Given the description of an element on the screen output the (x, y) to click on. 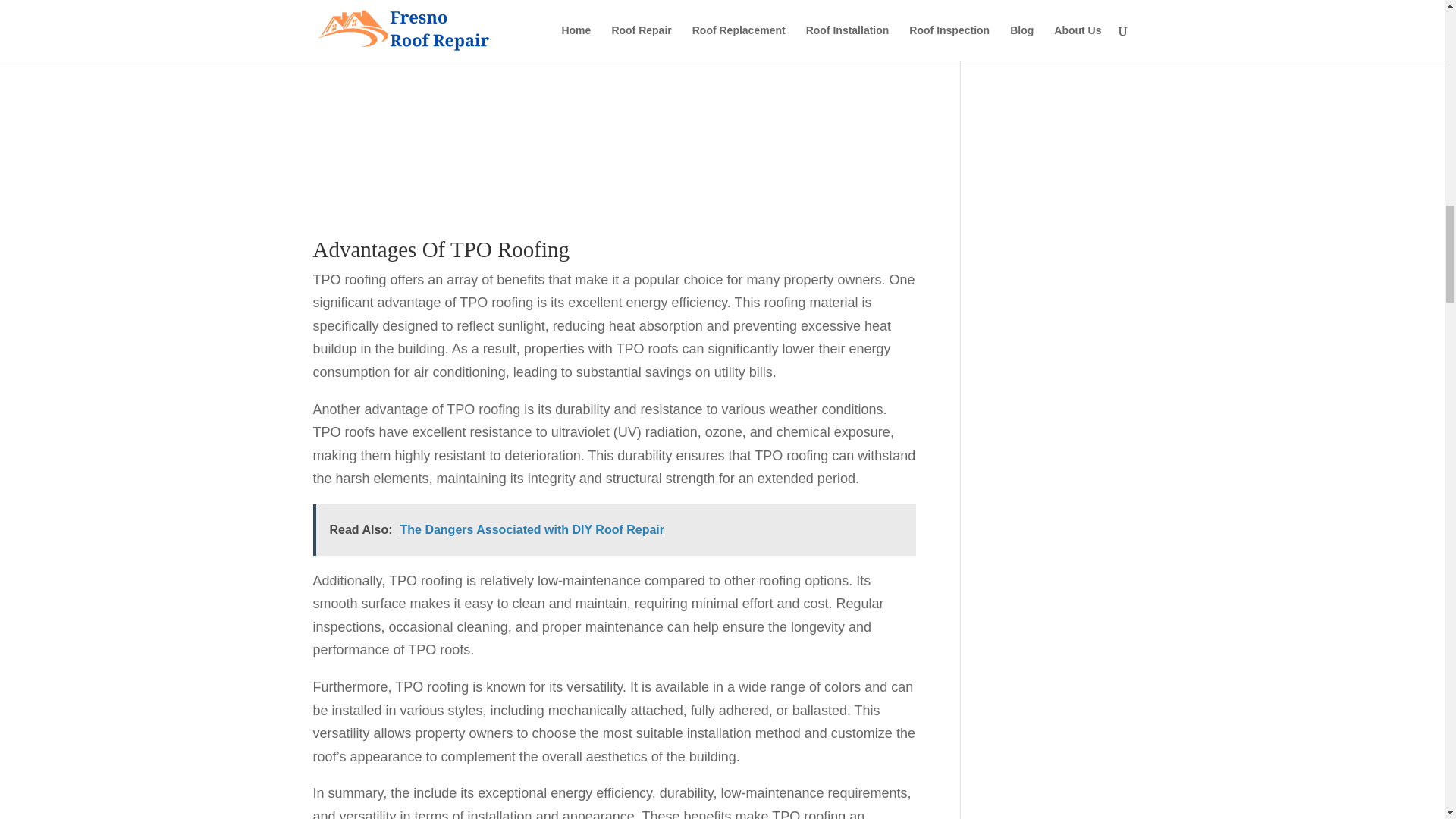
Read Also:  The Dangers Associated with DIY Roof Repair (614, 530)
